Given the description of an element on the screen output the (x, y) to click on. 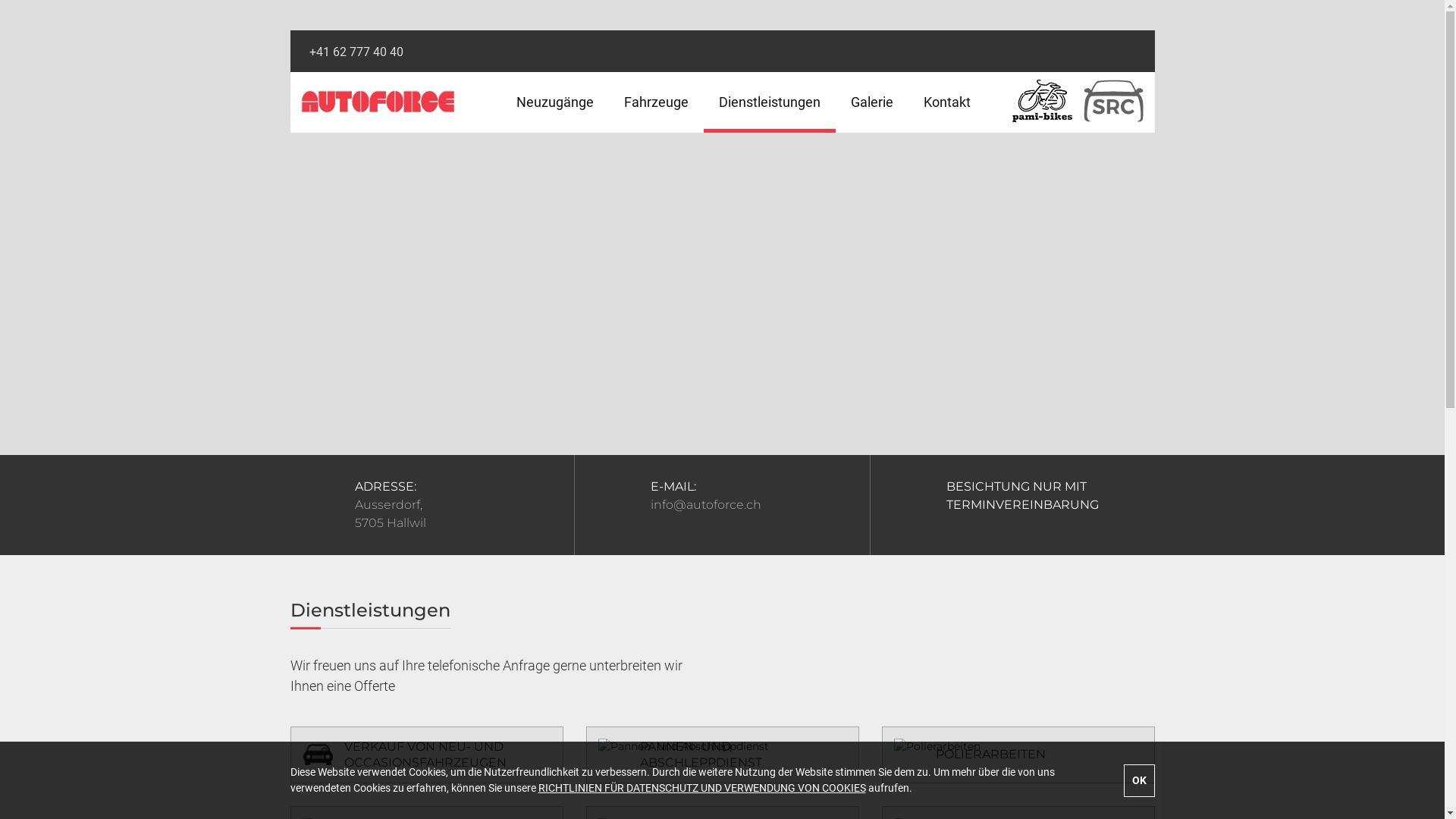
Fahrzeuge Element type: text (655, 102)
Kontakt Element type: text (946, 102)
OK Element type: text (1138, 780)
+41 62 777 40 40 Element type: text (356, 51)
info@autoforce.ch Element type: text (705, 504)
Galerie Element type: text (871, 102)
Dienstleistungen Element type: text (769, 102)
